Given the description of an element on the screen output the (x, y) to click on. 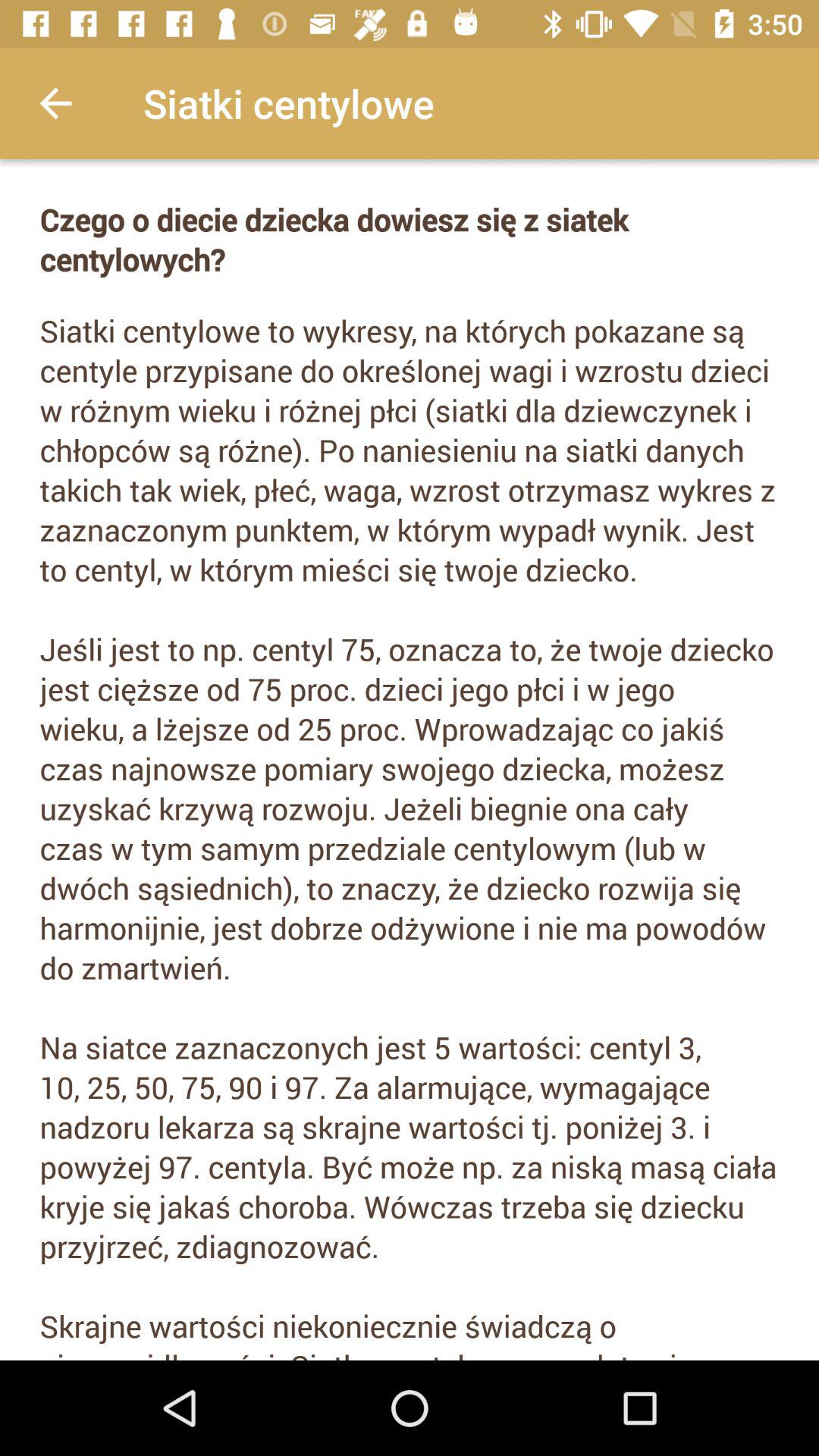
turn on the item at the top left corner (55, 103)
